Given the description of an element on the screen output the (x, y) to click on. 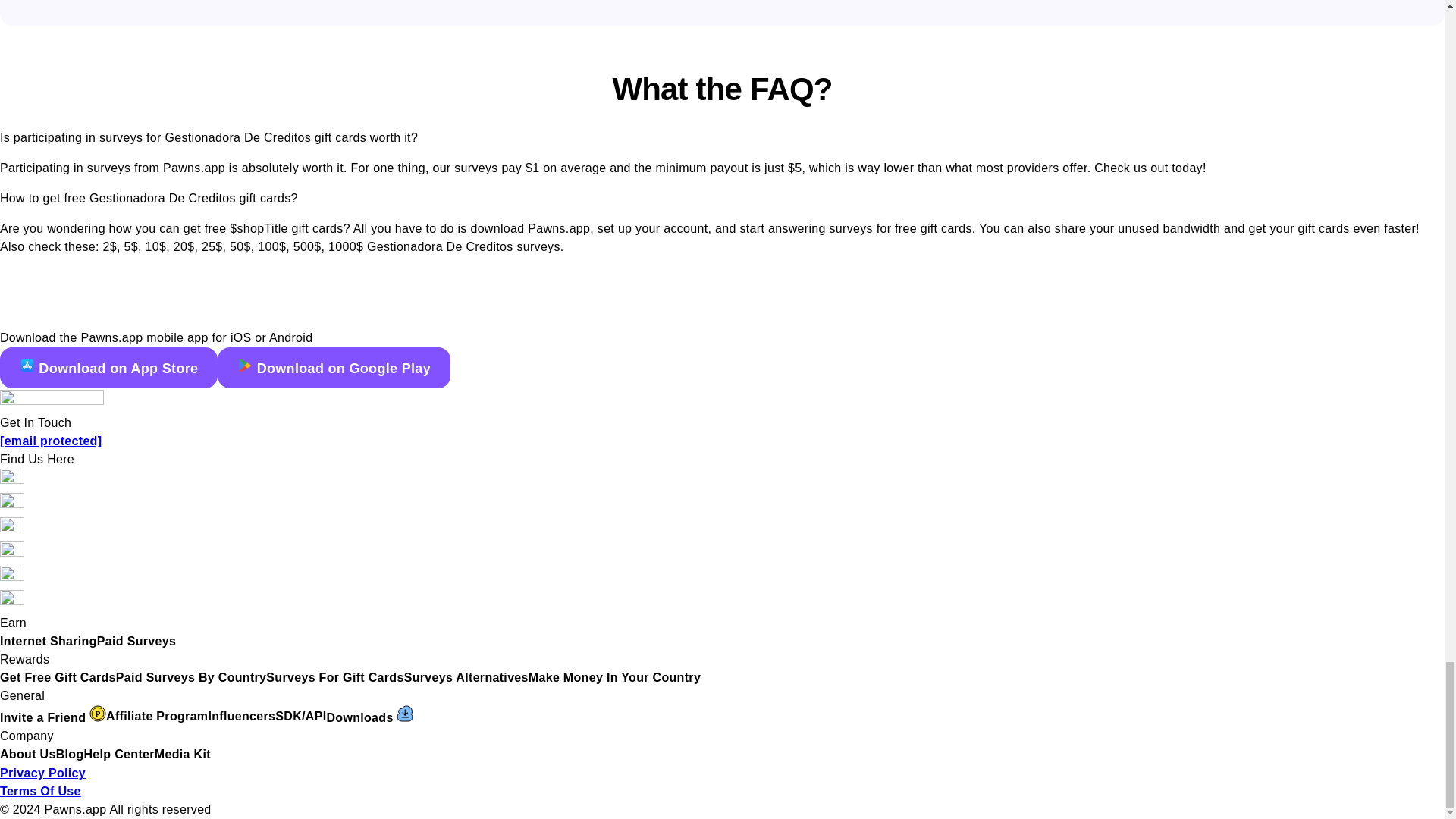
Make Money In Your Country (614, 678)
Download on App Store (108, 367)
Internet Sharing (48, 641)
Surveys For Gift Cards (334, 678)
Terms Of Use (40, 790)
Influencers (241, 715)
Paid Surveys By Country (191, 678)
Download on Google Play (332, 367)
Surveys Alternatives (466, 678)
About Us (28, 754)
Media Kit (182, 754)
Invite a Friend (53, 716)
Privacy Policy (42, 772)
Downloads (369, 716)
Paid Surveys (136, 641)
